Given the description of an element on the screen output the (x, y) to click on. 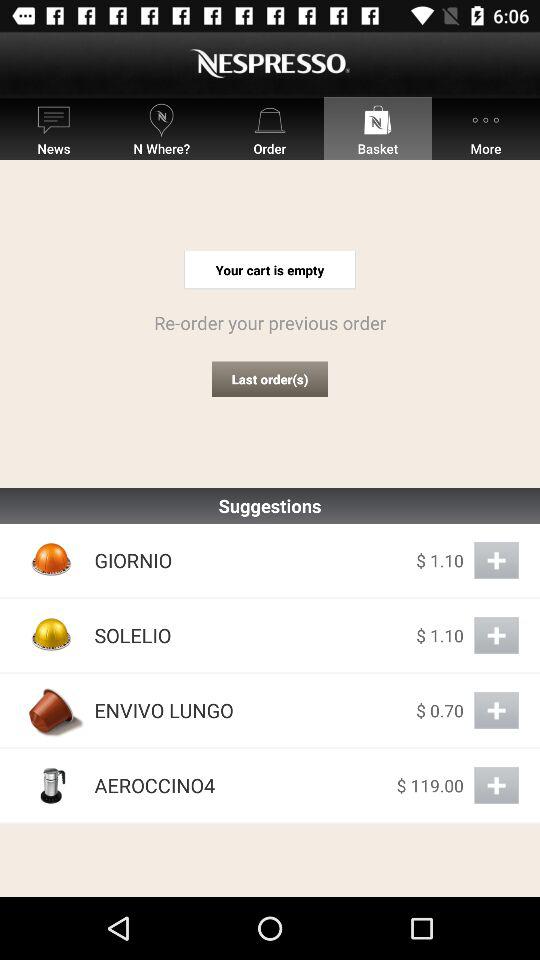
add this to basket (496, 635)
